Given the description of an element on the screen output the (x, y) to click on. 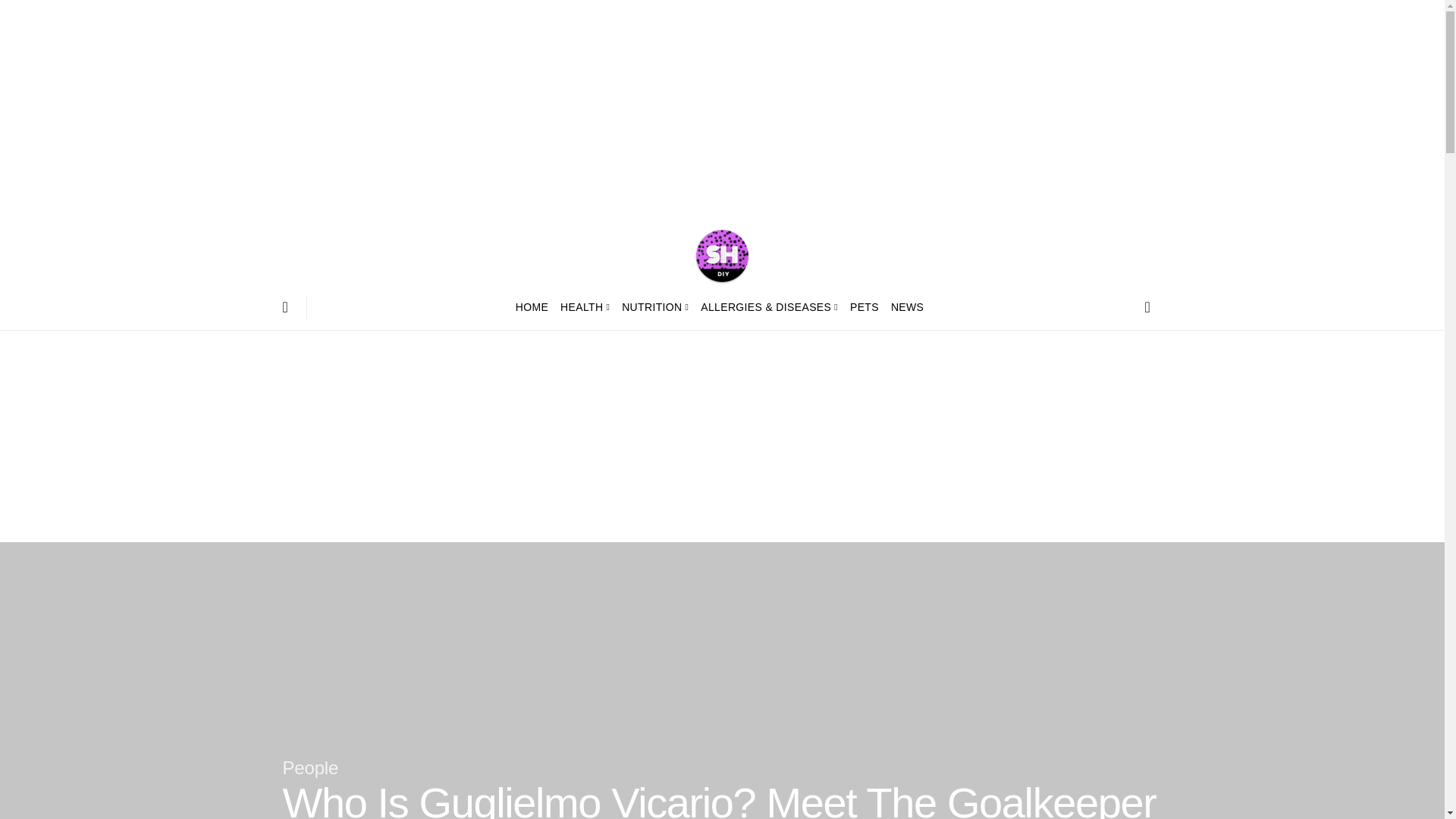
HEALTH (584, 307)
NUTRITION (654, 307)
HOME (534, 307)
